Given the description of an element on the screen output the (x, y) to click on. 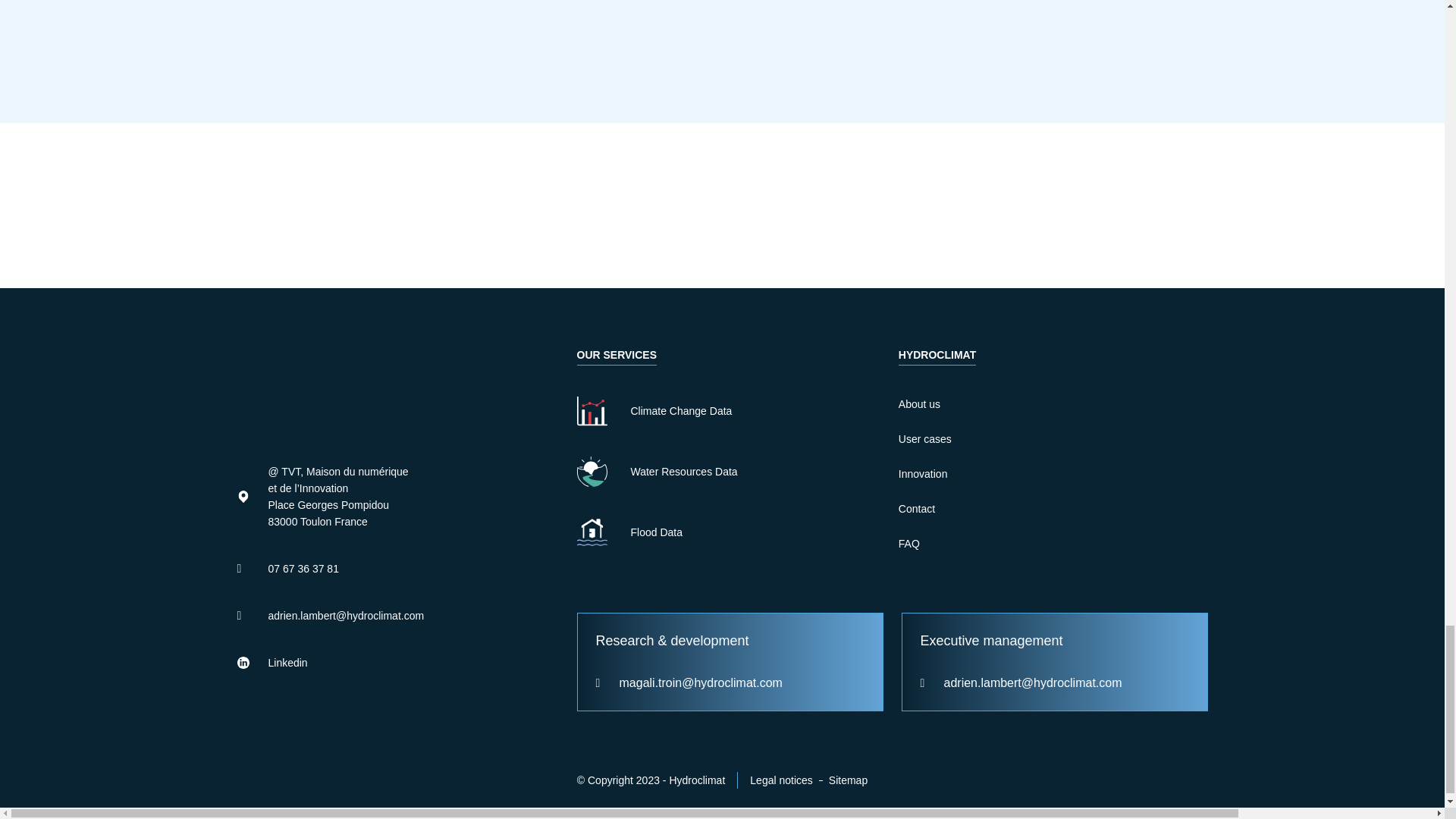
Linkedin (375, 662)
Flood Data (737, 531)
Climate Change Data (737, 410)
Water Resources Data (737, 471)
07 67 36 37 81 (375, 568)
